Given the description of an element on the screen output the (x, y) to click on. 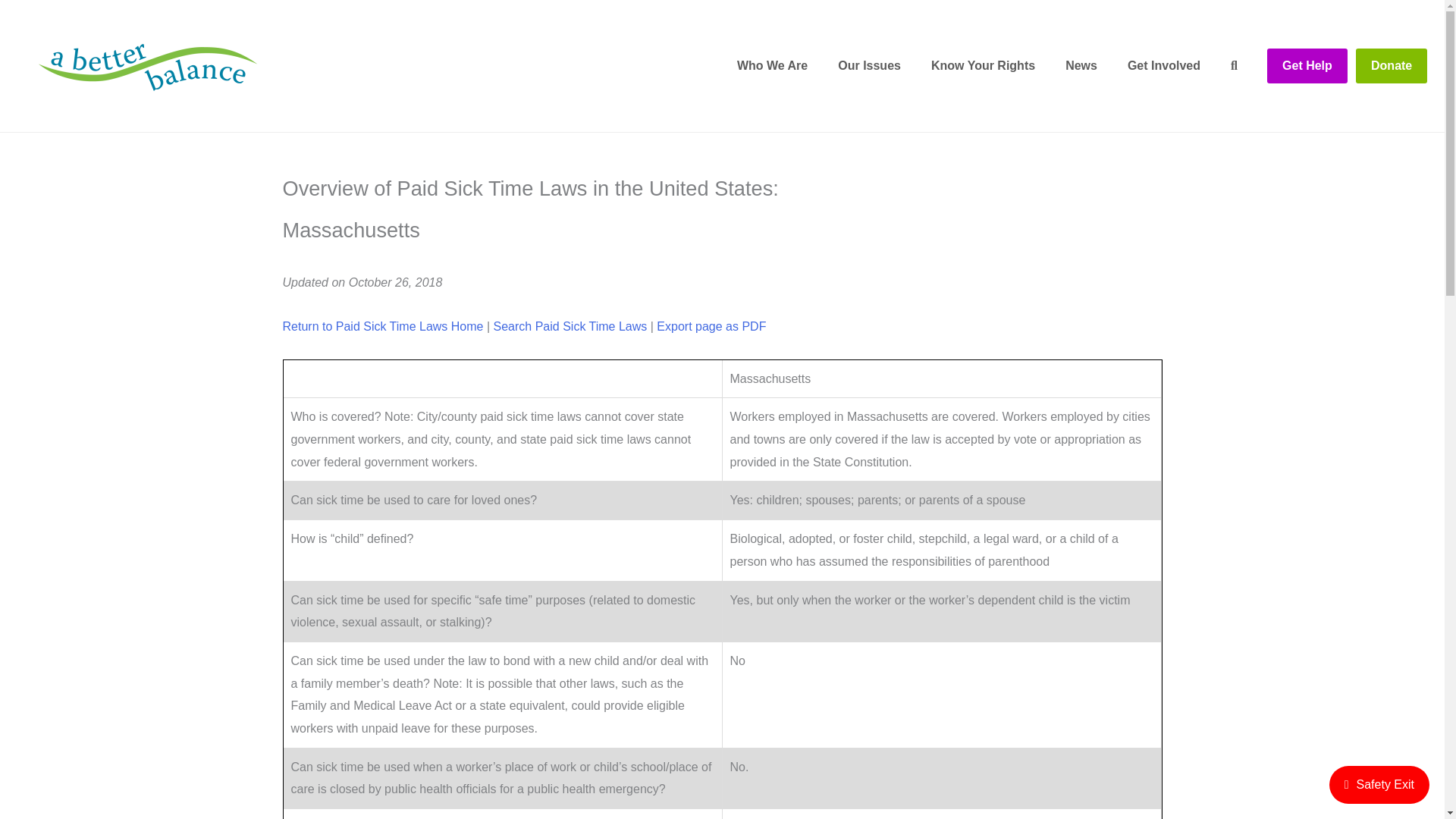
Know Your Rights (982, 65)
Donate (1390, 65)
Get Help (1307, 65)
News (1080, 65)
Safety Exit (1379, 784)
Who We Are (772, 65)
Our Issues (868, 65)
Get Involved (1163, 65)
